Given the description of an element on the screen output the (x, y) to click on. 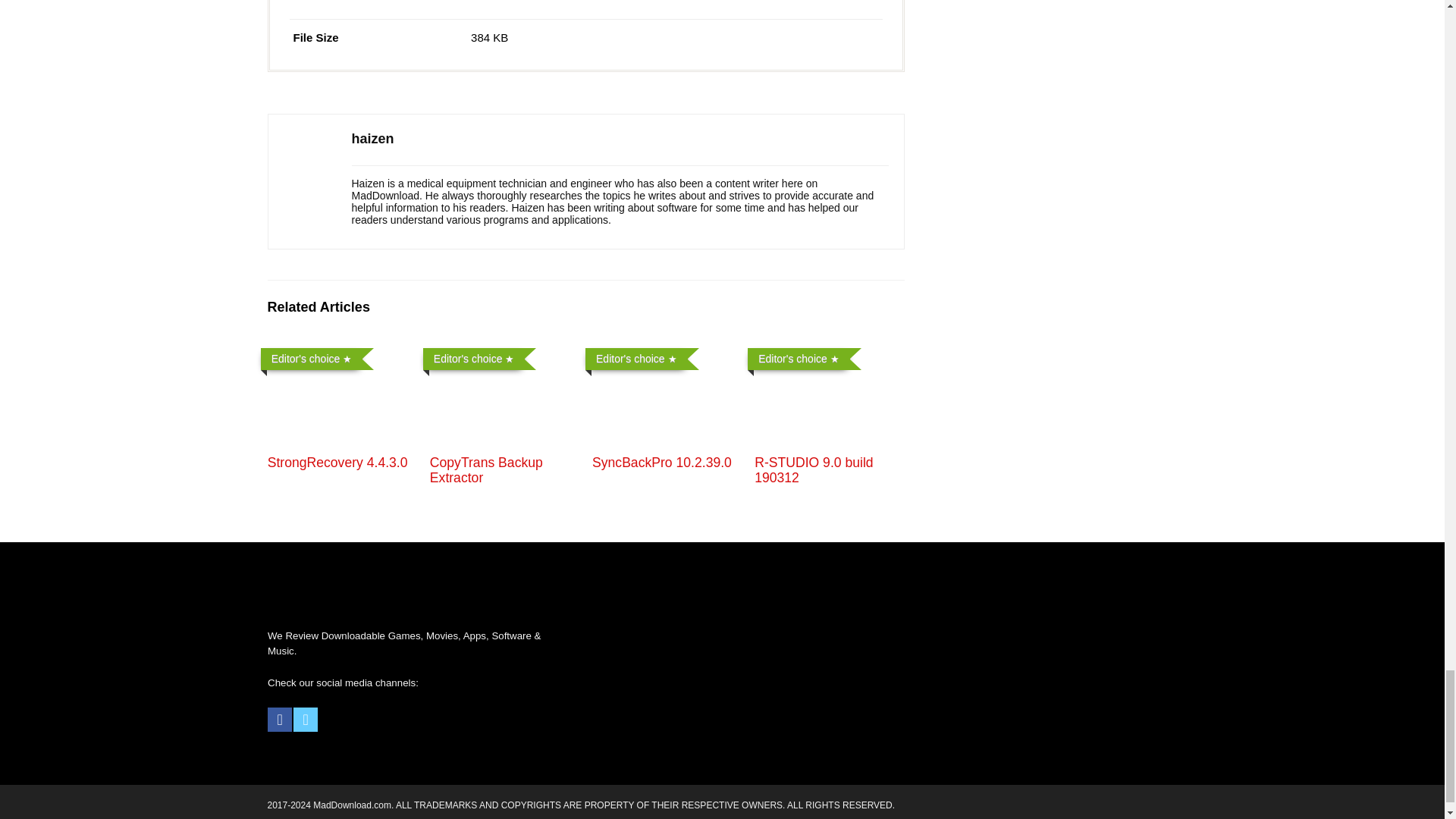
MadDownload Facebook Page (279, 719)
MadDownload Twitter Page (305, 719)
